Given the description of an element on the screen output the (x, y) to click on. 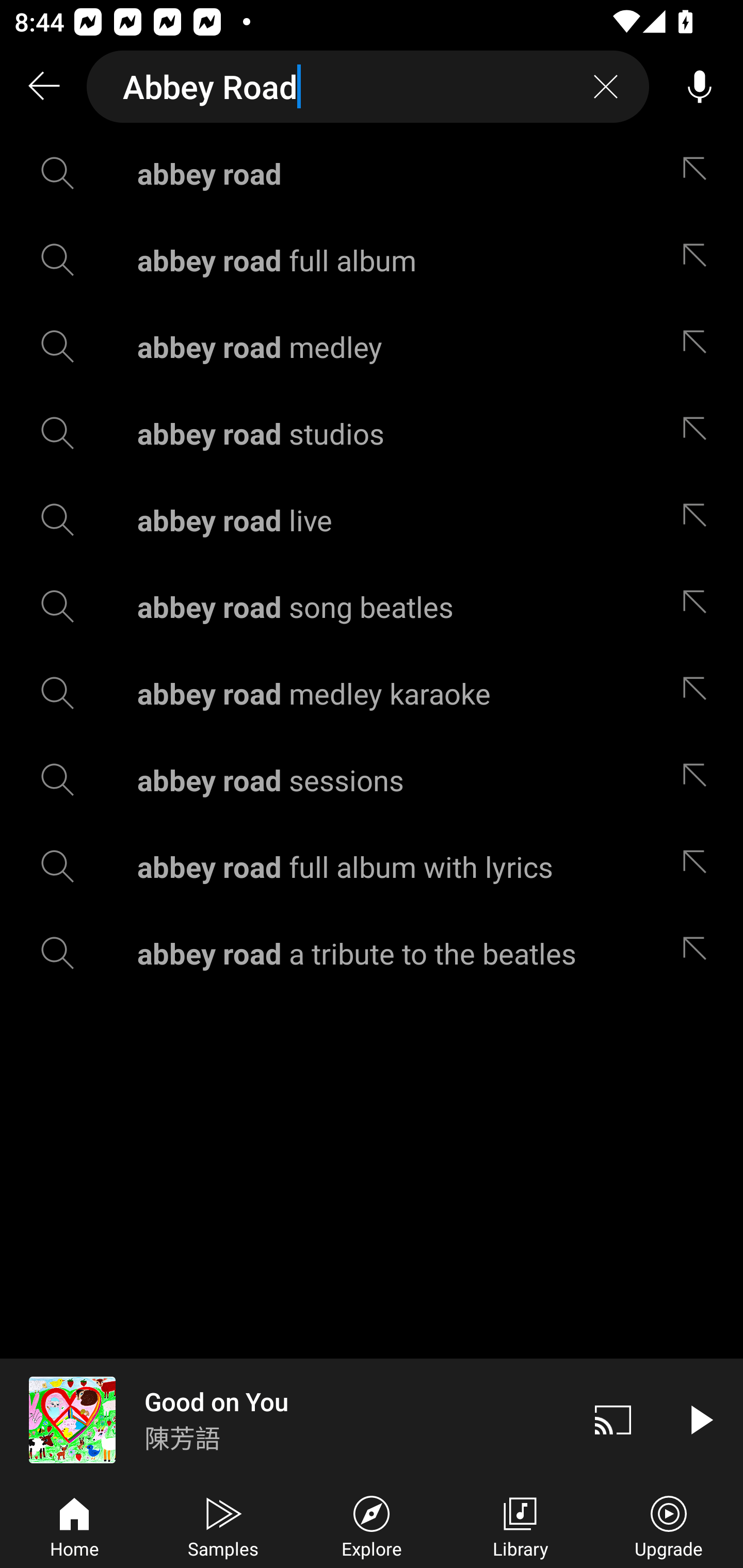
Search back (43, 86)
Abbey Road (367, 86)
Clear search (605, 86)
Voice search (699, 86)
abbey road Edit suggestion abbey road (371, 173)
Edit suggestion abbey road (699, 173)
Edit suggestion abbey road full album (699, 259)
Edit suggestion abbey road medley (699, 346)
Edit suggestion abbey road studios (699, 433)
abbey road live Edit suggestion abbey road live (371, 519)
Edit suggestion abbey road live (699, 519)
Edit suggestion abbey road song beatles (699, 605)
Edit suggestion abbey road medley karaoke (699, 692)
Edit suggestion abbey road sessions (699, 779)
Edit suggestion abbey road full album with lyrics (699, 866)
Good on You 陳芳語 (284, 1419)
Cast. Disconnected (612, 1419)
Play video (699, 1419)
Home (74, 1524)
Samples (222, 1524)
Explore (371, 1524)
Library (519, 1524)
Upgrade (668, 1524)
